Given the description of an element on the screen output the (x, y) to click on. 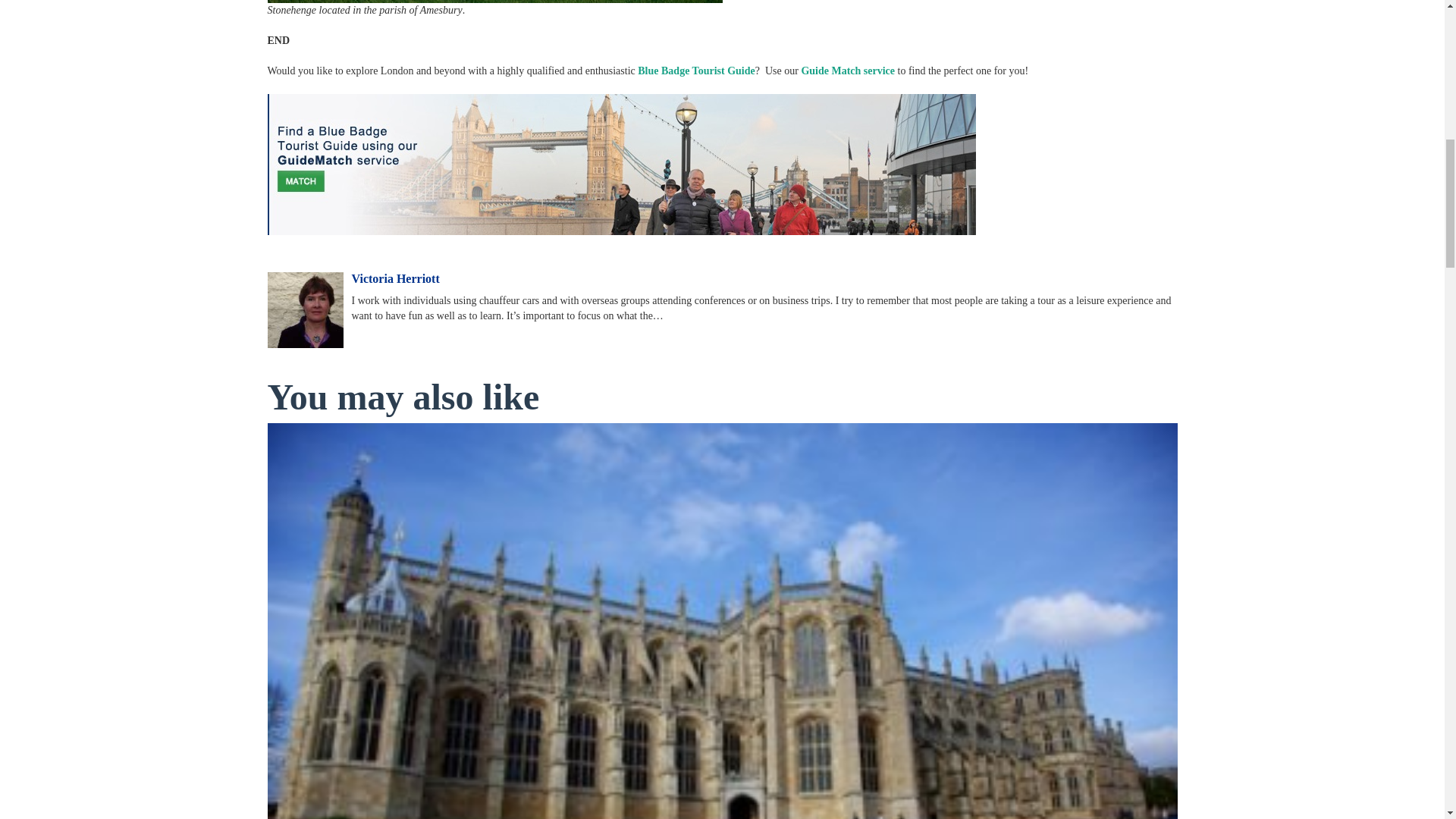
Victoria Herriott (395, 279)
Guide Match service (847, 70)
Blue Badge Tourist Guide (695, 70)
